Given the description of an element on the screen output the (x, y) to click on. 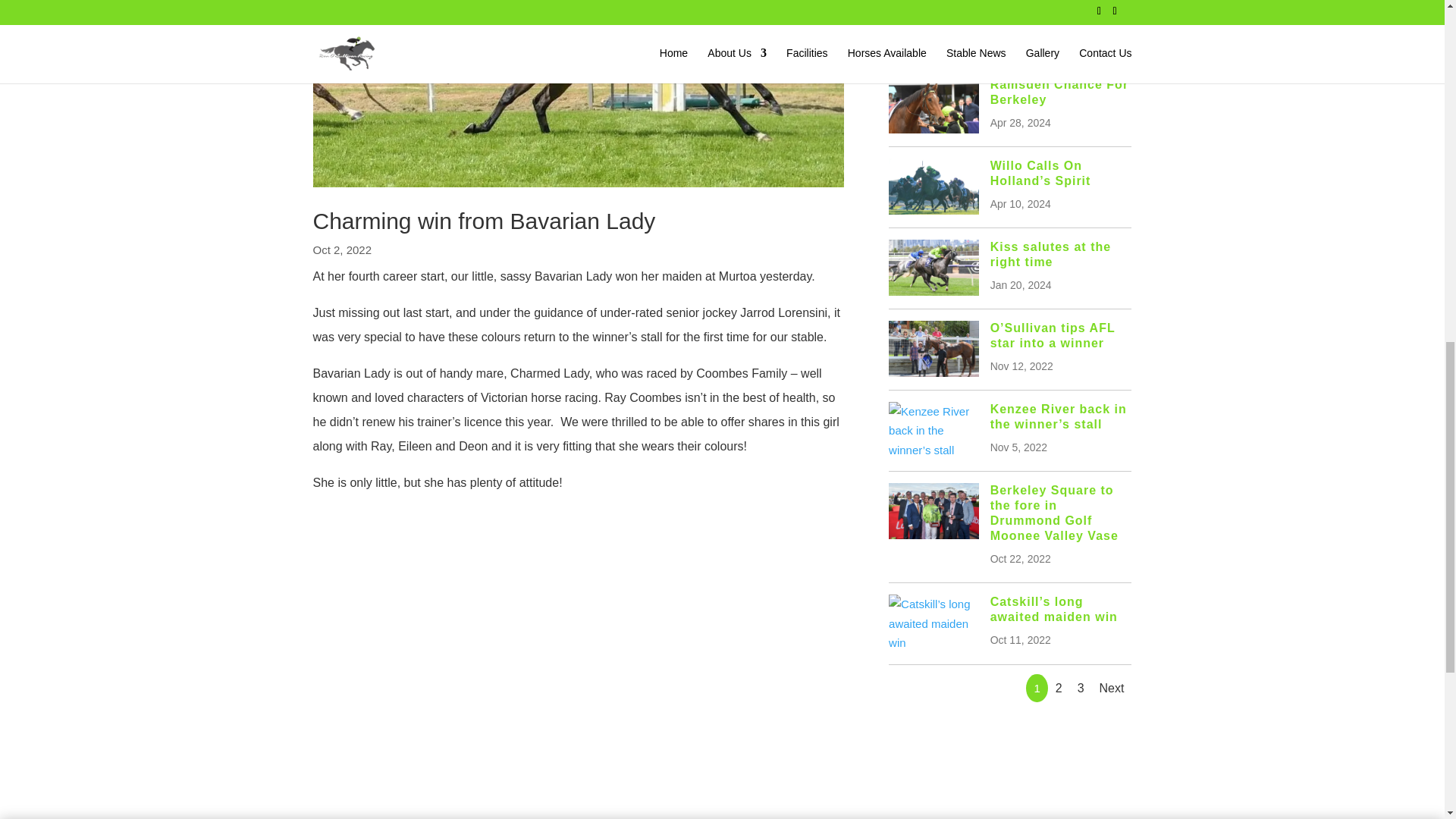
Next (1112, 687)
Kiss salutes at the right time (1051, 254)
BavarianLady1.10.22 (578, 94)
Ramsden Chance For Berkeley (1059, 91)
